Given the description of an element on the screen output the (x, y) to click on. 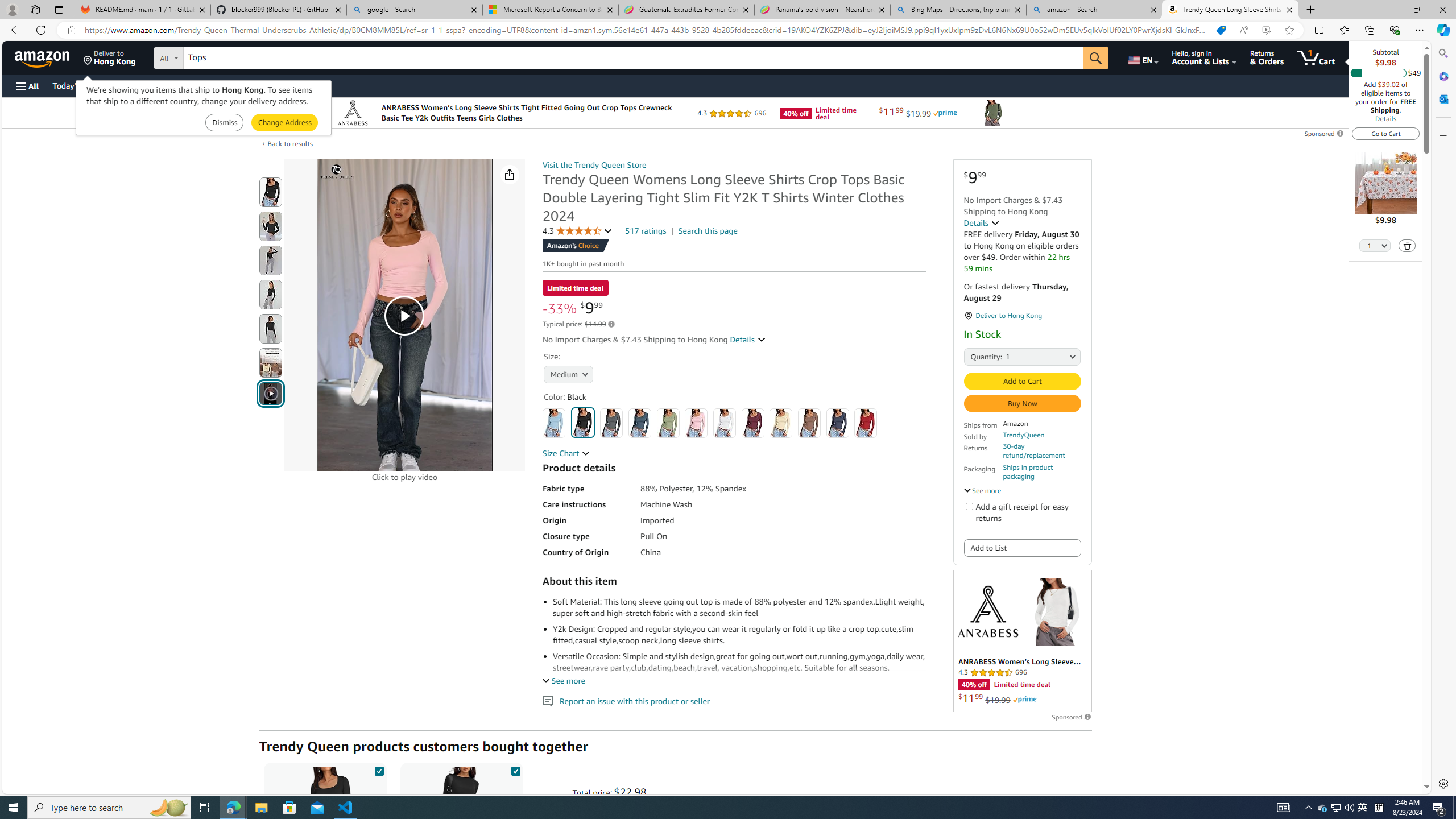
Visit the Trendy Queen Store (594, 164)
Apricot (781, 422)
Back to results (290, 144)
Deliver to Hong Kong (109, 57)
Coffee Grey (809, 422)
AutomationID: thematicBundleCheck-2 (515, 768)
Navy (837, 422)
Today's Deals (76, 85)
google - Search (414, 9)
30-day refund/replacement (1042, 451)
AutomationID: thematicBundleCheck-1 (379, 768)
Coffee Grey (809, 422)
